Given the description of an element on the screen output the (x, y) to click on. 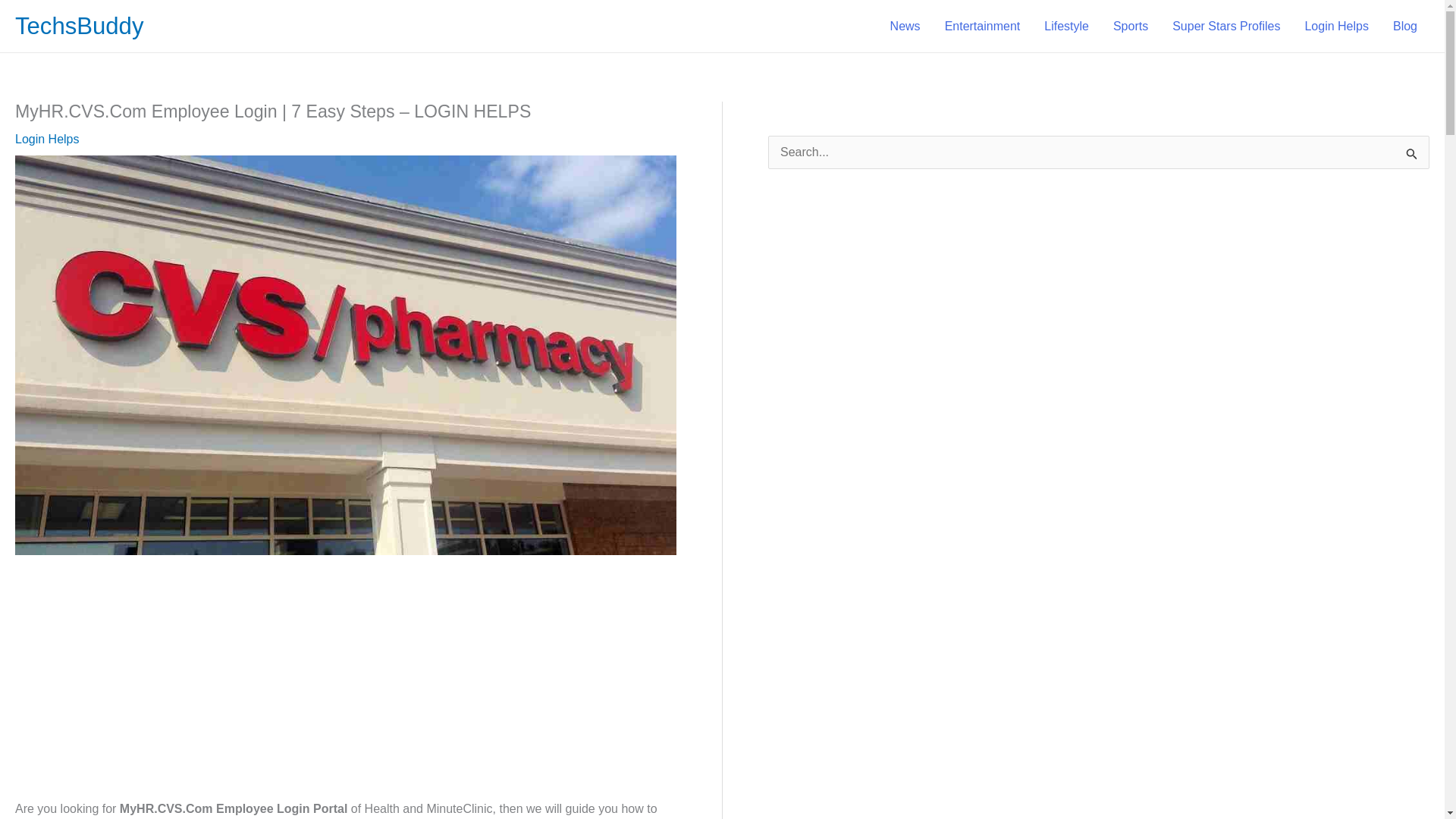
Super Stars Profiles (1226, 26)
Login Helps (1336, 26)
Blog (1404, 26)
News (905, 26)
Lifestyle (1066, 26)
Entertainment (982, 26)
Login Helps (47, 138)
TechsBuddy (78, 26)
Sports (1130, 26)
